Given the description of an element on the screen output the (x, y) to click on. 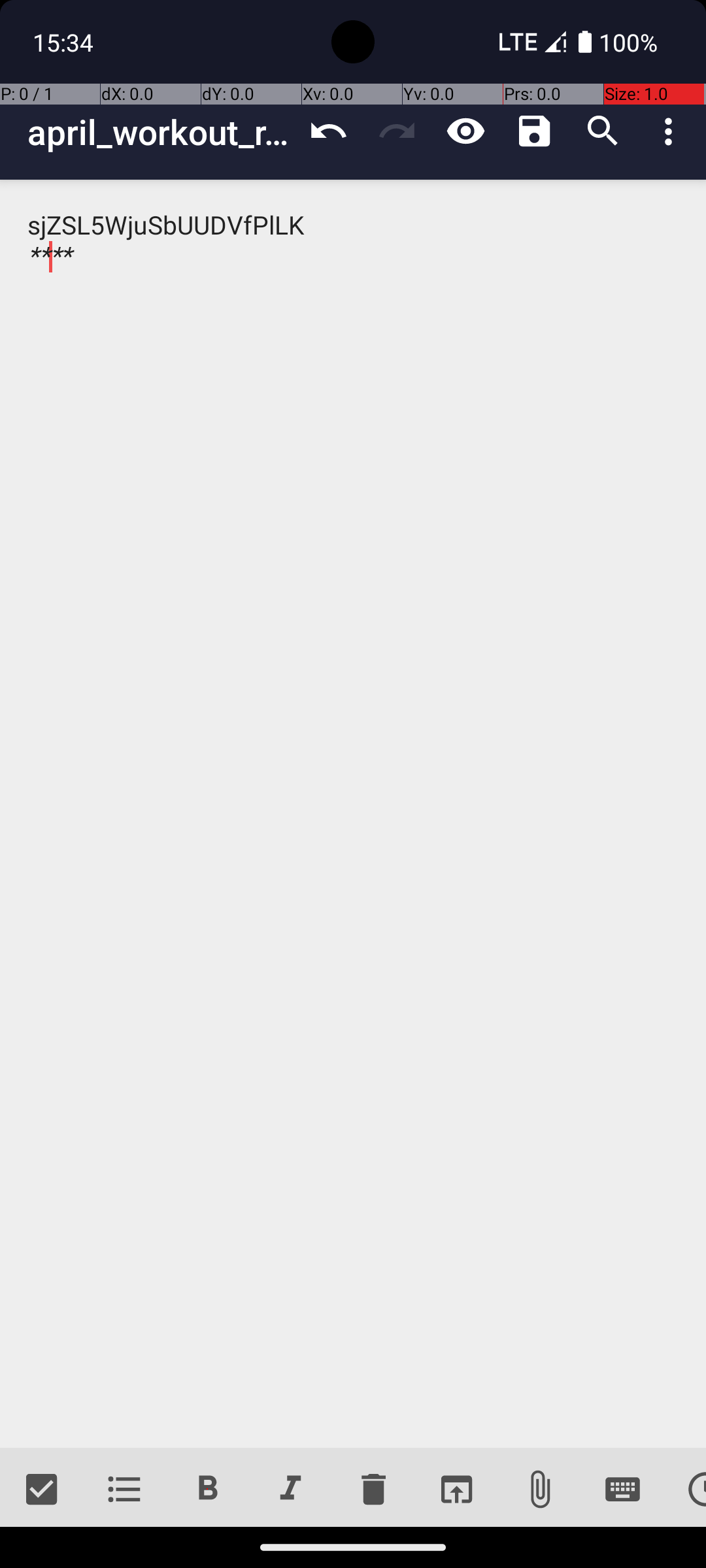
april_workout_routine_final Element type: android.widget.TextView (160, 131)
sjZSL5WjuSbUUDVfPlLK
**** Element type: android.widget.EditText (353, 813)
